Given the description of an element on the screen output the (x, y) to click on. 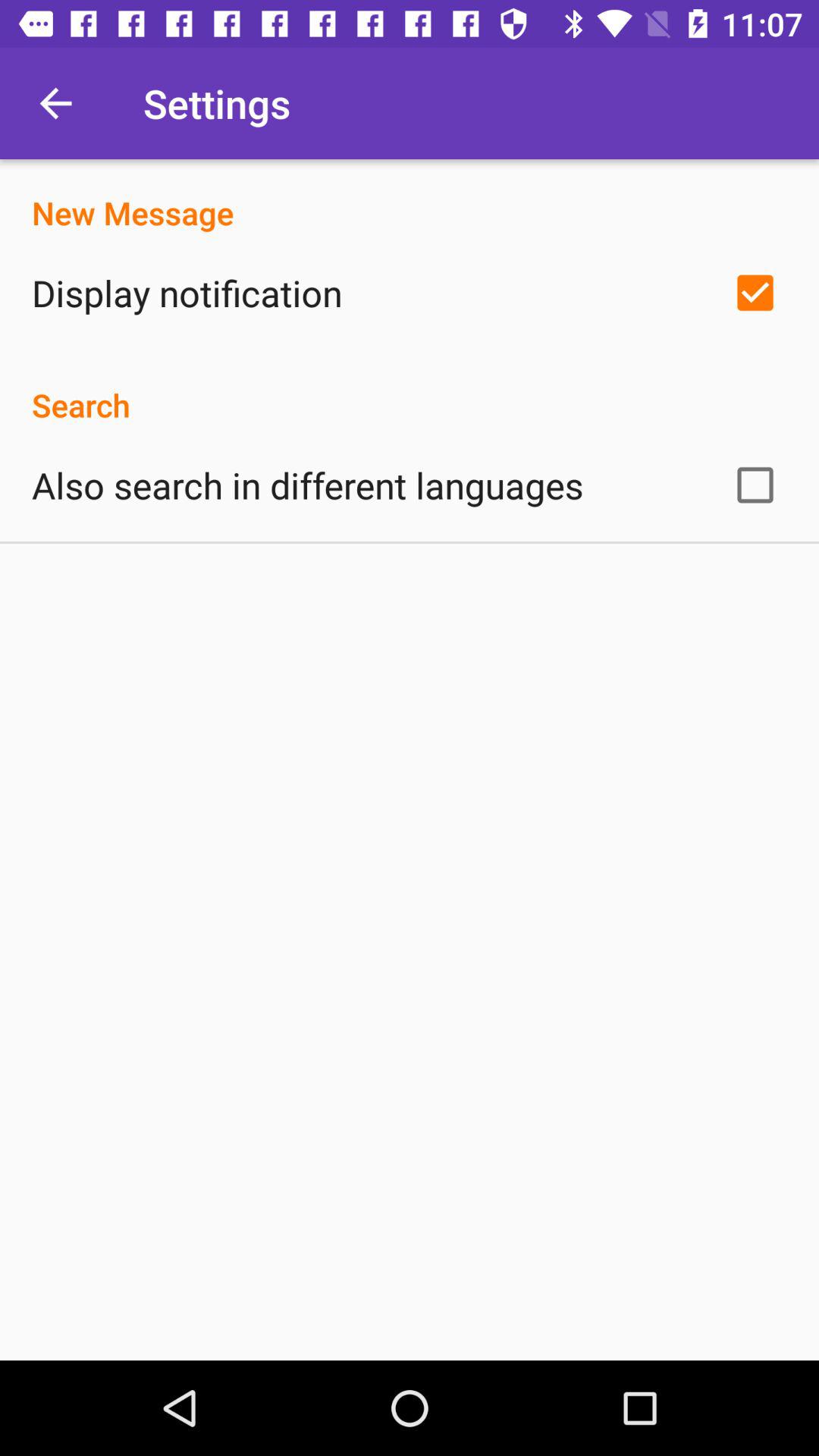
swipe until the display notification item (186, 292)
